Given the description of an element on the screen output the (x, y) to click on. 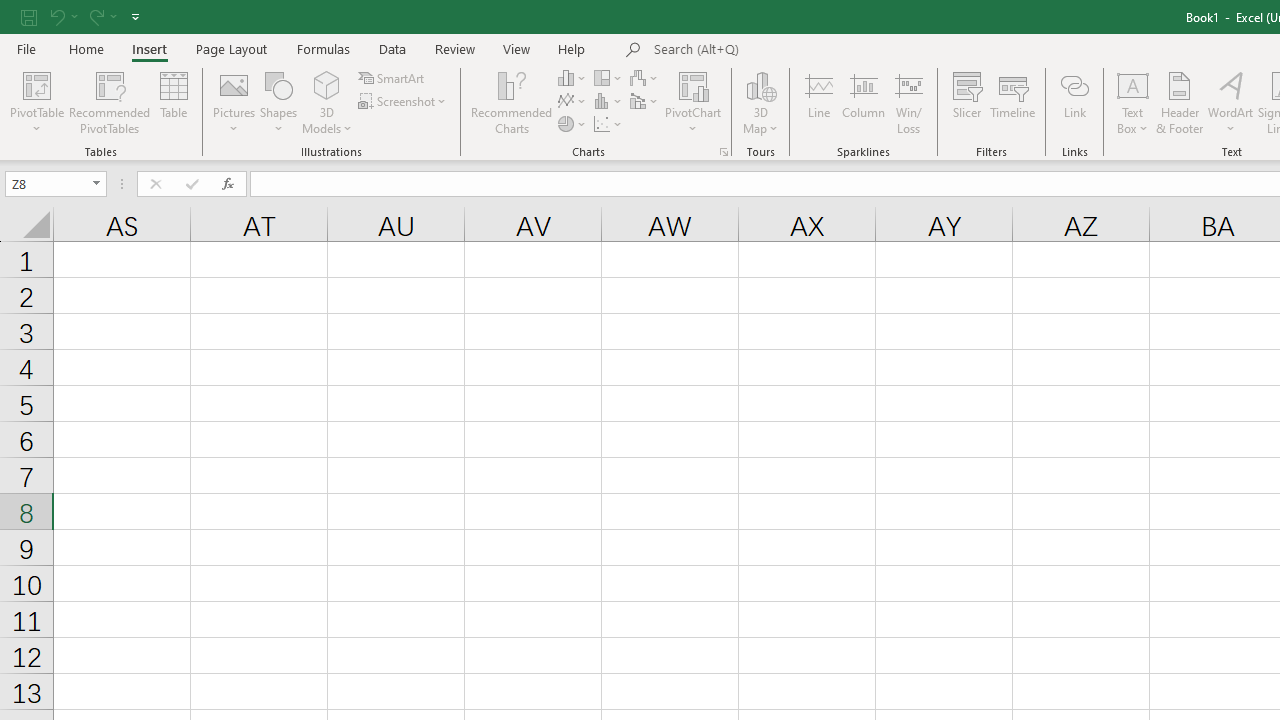
PivotChart (693, 102)
Insert Line or Area Chart (573, 101)
Timeline (1013, 102)
Recommended Charts (723, 151)
PivotTable (36, 102)
Insert Statistic Chart (609, 101)
Draw Horizontal Text Box (1133, 84)
View (517, 48)
PivotTable (36, 84)
Slicer... (966, 102)
PivotChart (693, 84)
Data (392, 48)
